Given the description of an element on the screen output the (x, y) to click on. 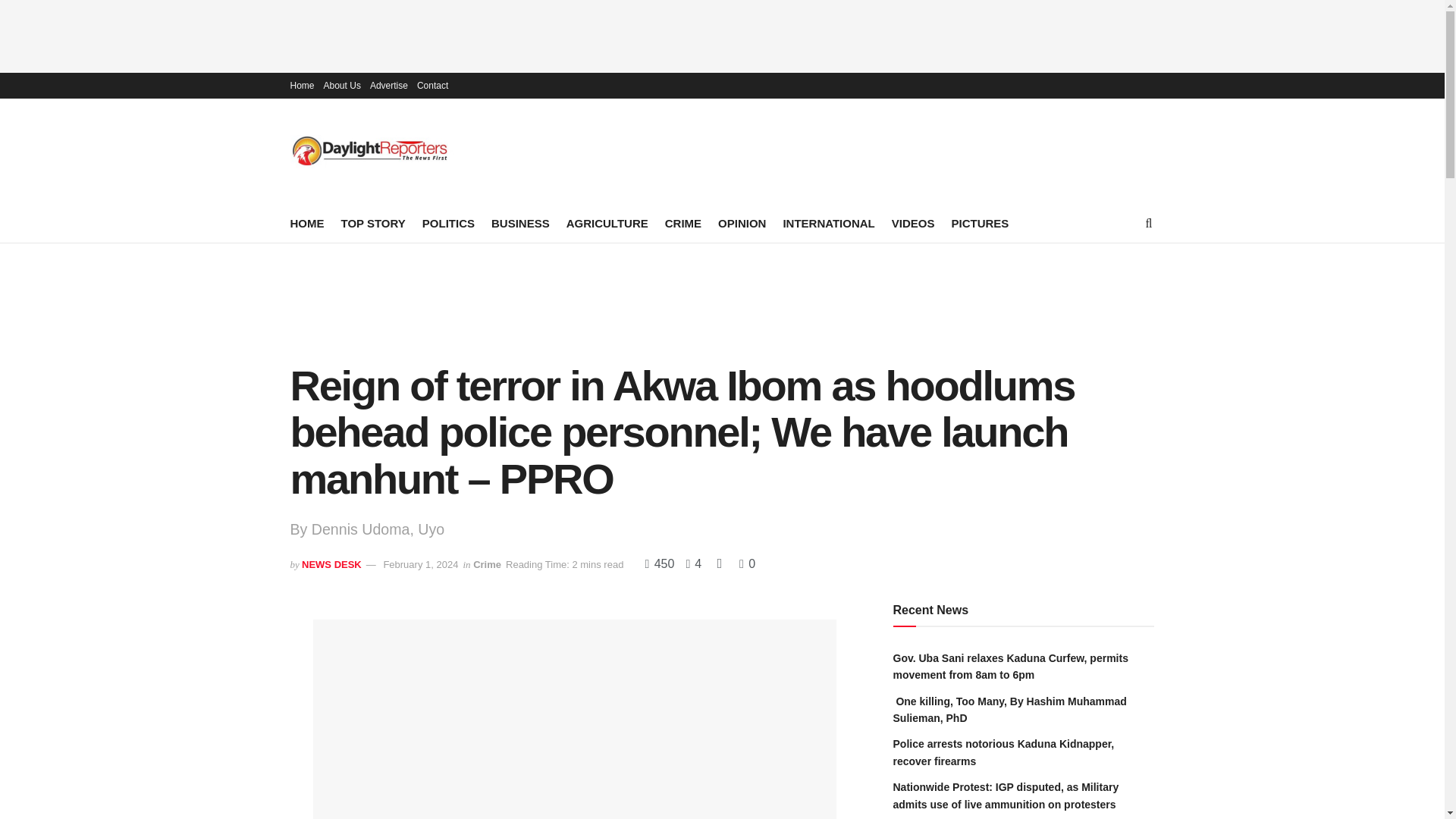
Advertisement (722, 33)
CRIME (683, 223)
INTERNATIONAL (829, 223)
VIDEOS (912, 223)
AGRICULTURE (606, 223)
OPINION (741, 223)
450 (661, 563)
PICTURES (979, 223)
TOP STORY (373, 223)
HOME (306, 223)
